Given the description of an element on the screen output the (x, y) to click on. 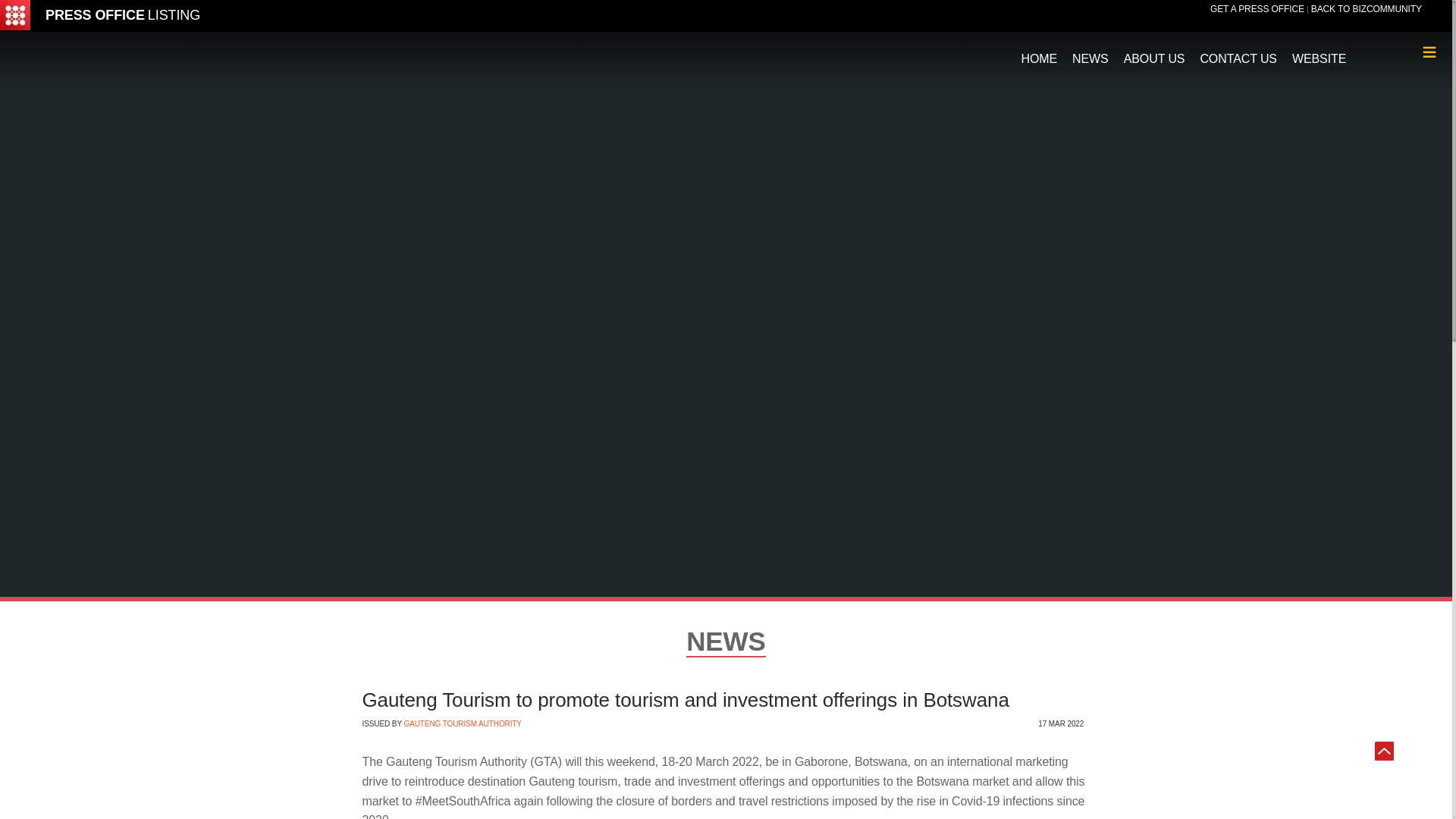
ABOUT US (1154, 52)
BACK TO BIZCOMMUNITY (1366, 9)
WEBSITE (1318, 52)
GET A PRESS OFFICE (1256, 9)
GAUTENG TOURISM AUTHORITY (462, 723)
CONTACT US (1237, 52)
